Given the description of an element on the screen output the (x, y) to click on. 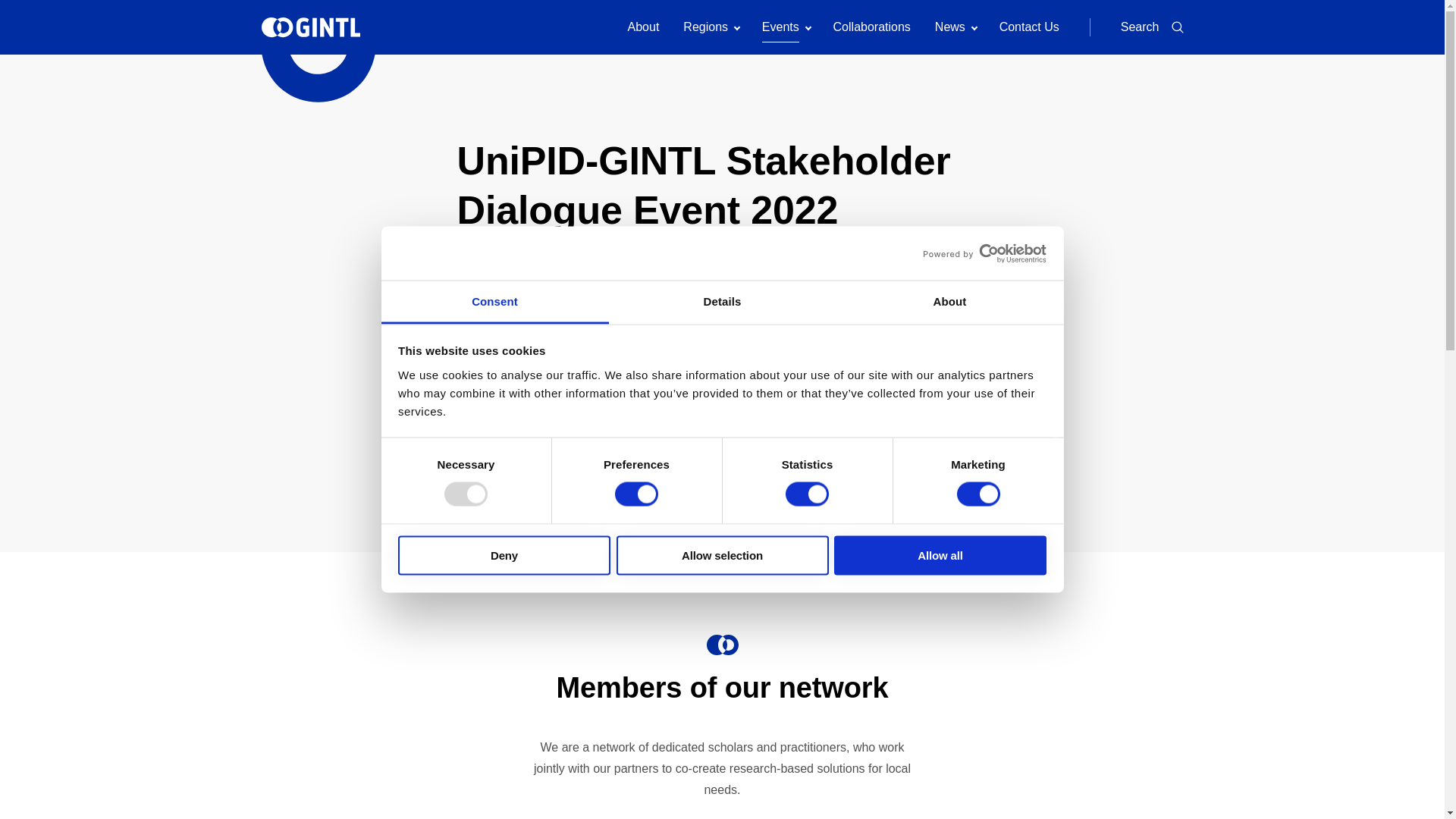
Details (721, 301)
Deny (503, 555)
Allow selection (721, 555)
About (948, 301)
Consent (494, 301)
Allow all (940, 555)
